Given the description of an element on the screen output the (x, y) to click on. 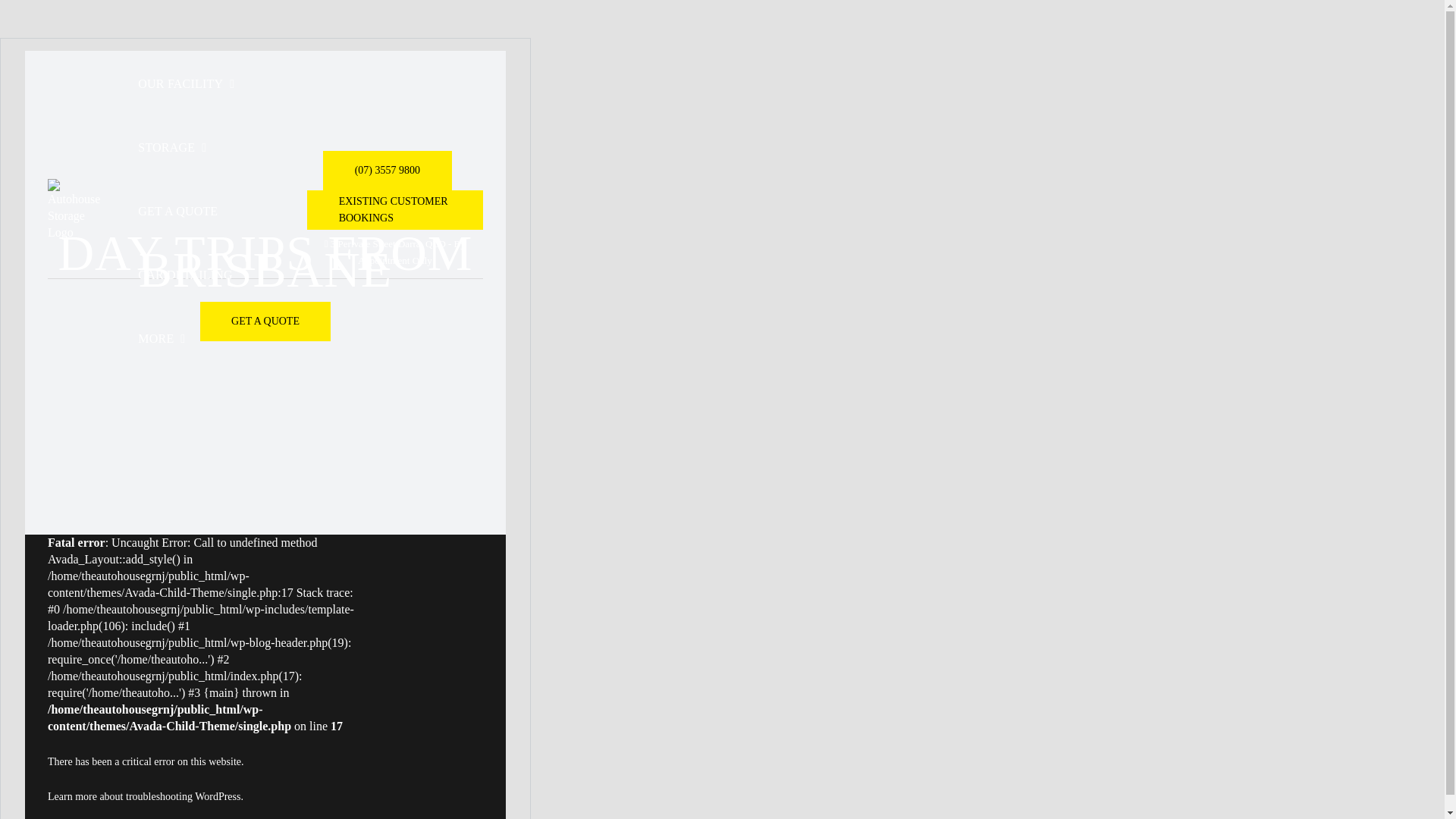
GET A QUOTE (177, 209)
GET A QUOTE (265, 321)
STORAGE (172, 146)
CAR DETAILING (184, 273)
EXISTING CUSTOMER BOOKINGS (395, 210)
OUR FACILITY (186, 82)
